Given the description of an element on the screen output the (x, y) to click on. 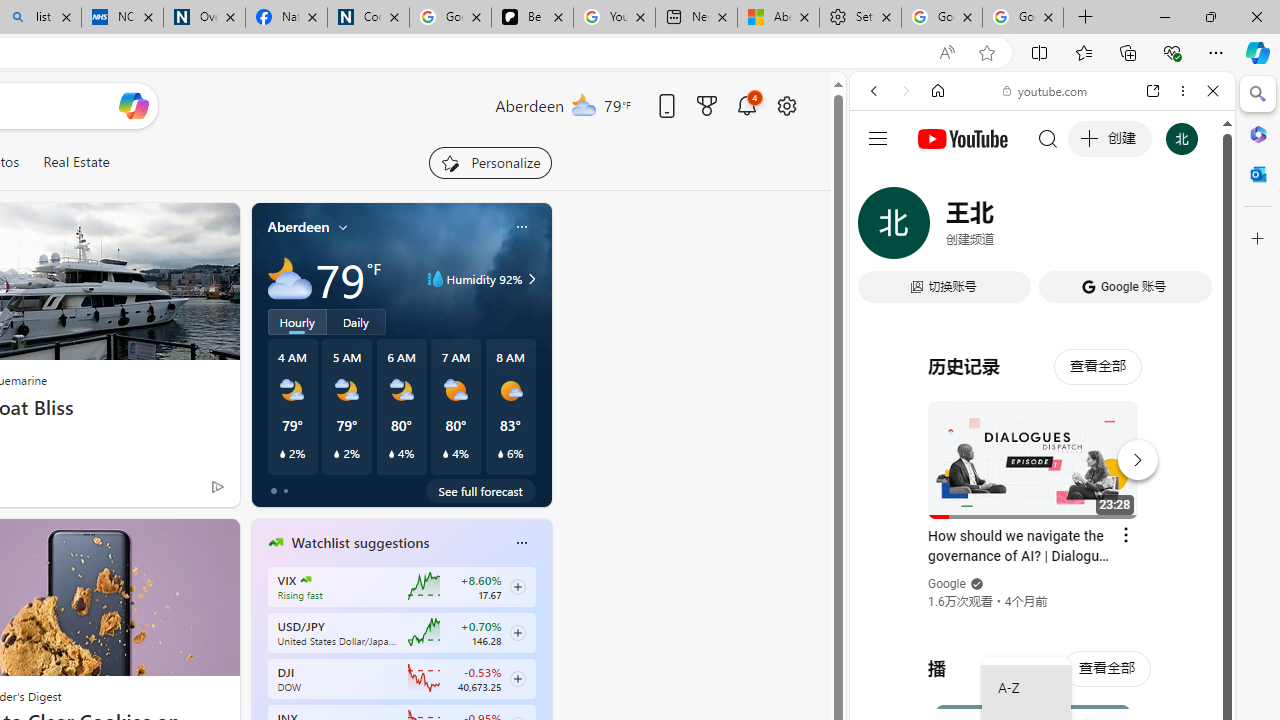
previous (261, 670)
Mostly cloudy (289, 278)
My location (343, 227)
youtube.com (1046, 90)
Mostly cloudy (289, 278)
